Given the description of an element on the screen output the (x, y) to click on. 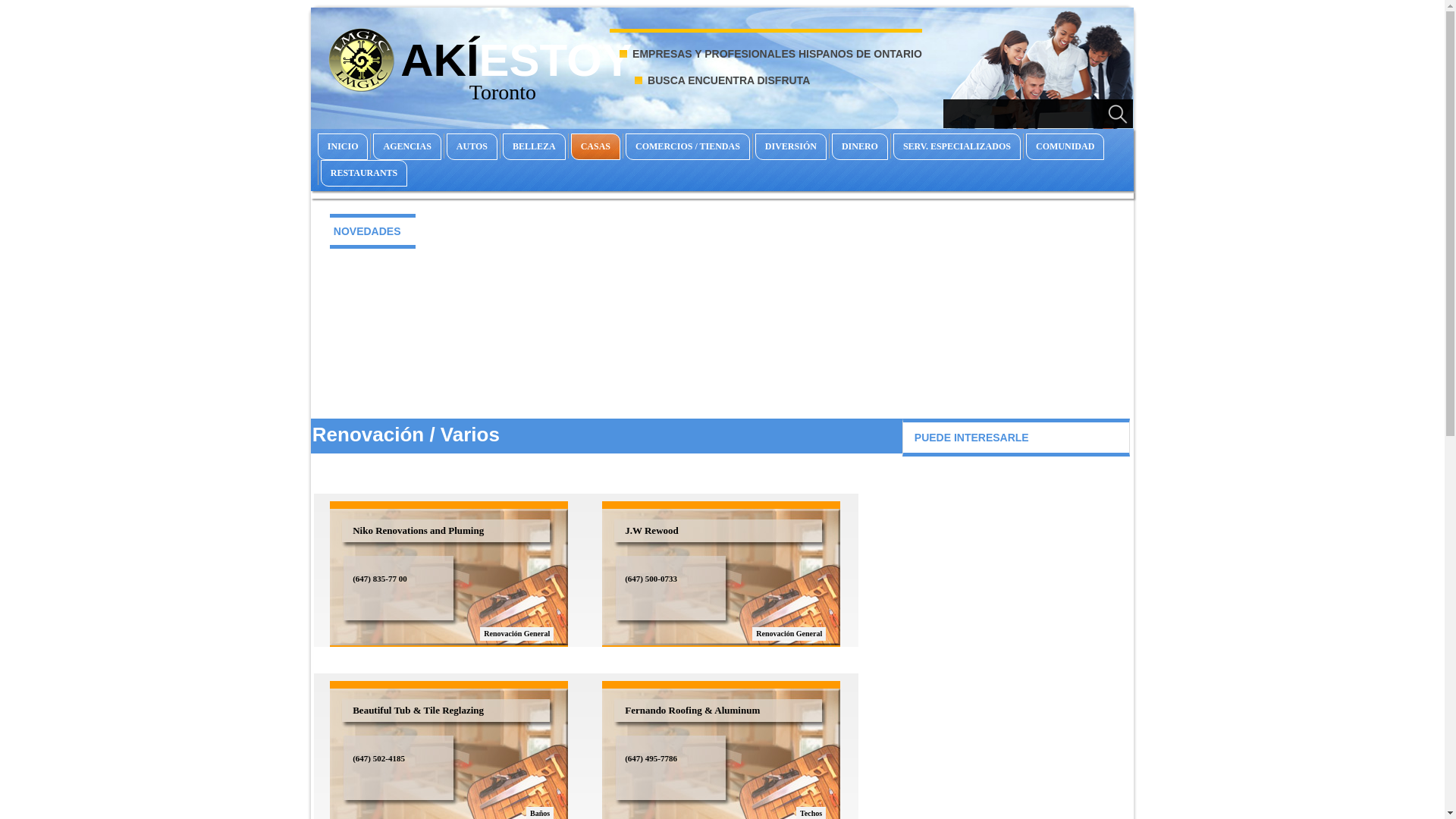
J.W Rewood Element type: text (621, 485)
CASAS Element type: text (595, 146)
Beautiful Tub & Tile Reglazing Element type: text (380, 665)
AUTOS Element type: text (471, 146)
RESTAURANTS Element type: text (363, 173)
INICIO Element type: text (342, 146)
COMERCIOS / TIENDAS Element type: text (687, 146)
BELLEZA Element type: text (533, 146)
Niko Renovations and Pluming Element type: text (382, 485)
Advertisement Element type: hover (721, 331)
COMUNIDAD Element type: text (1065, 146)
DINERO Element type: text (859, 146)
AGENCIAS Element type: text (406, 146)
Fernando Roofing & Aluminum Element type: text (654, 665)
SERV. ESPECIALIZADOS Element type: text (956, 146)
